Given the description of an element on the screen output the (x, y) to click on. 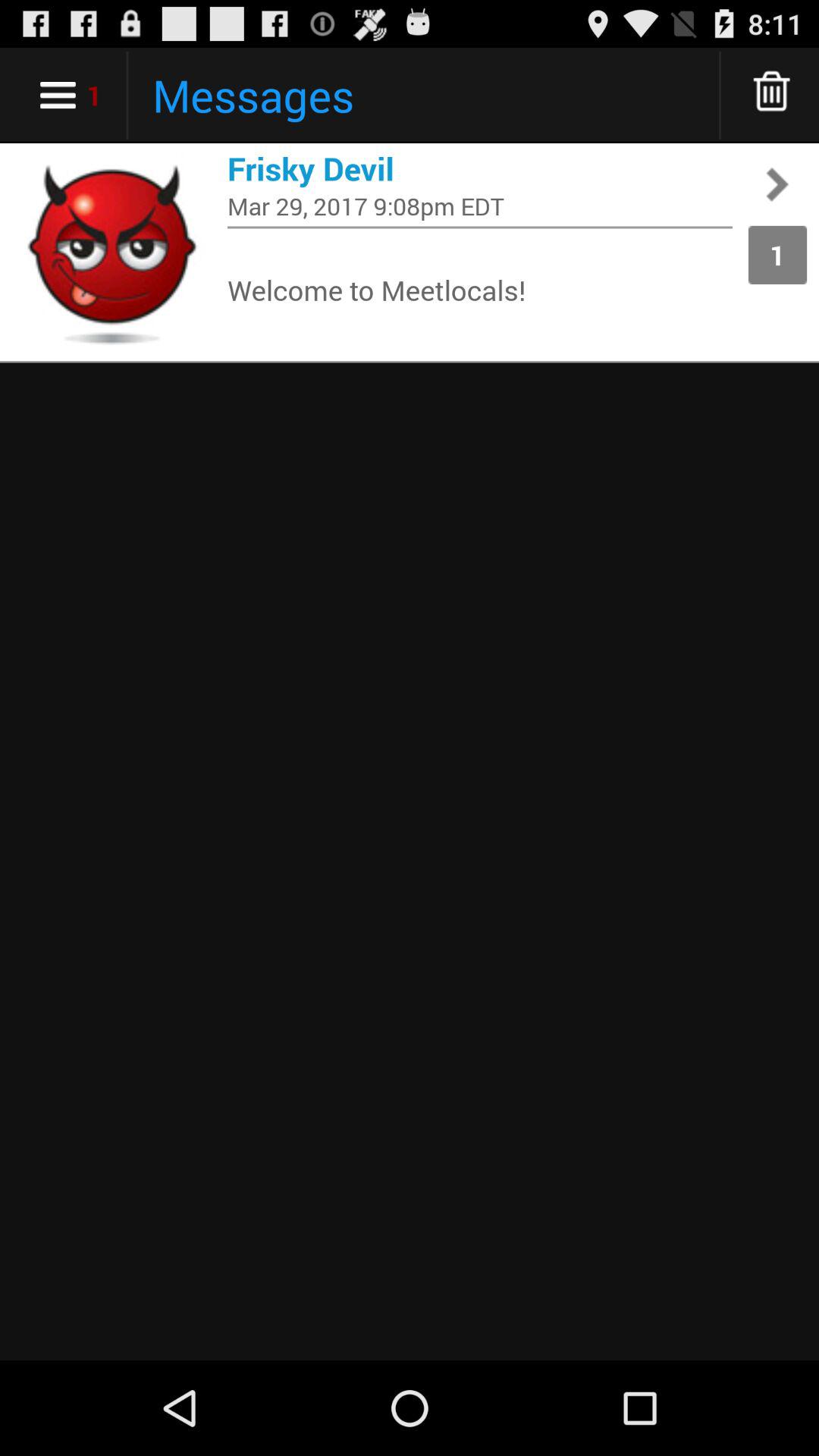
select the item below messages app (479, 168)
